Given the description of an element on the screen output the (x, y) to click on. 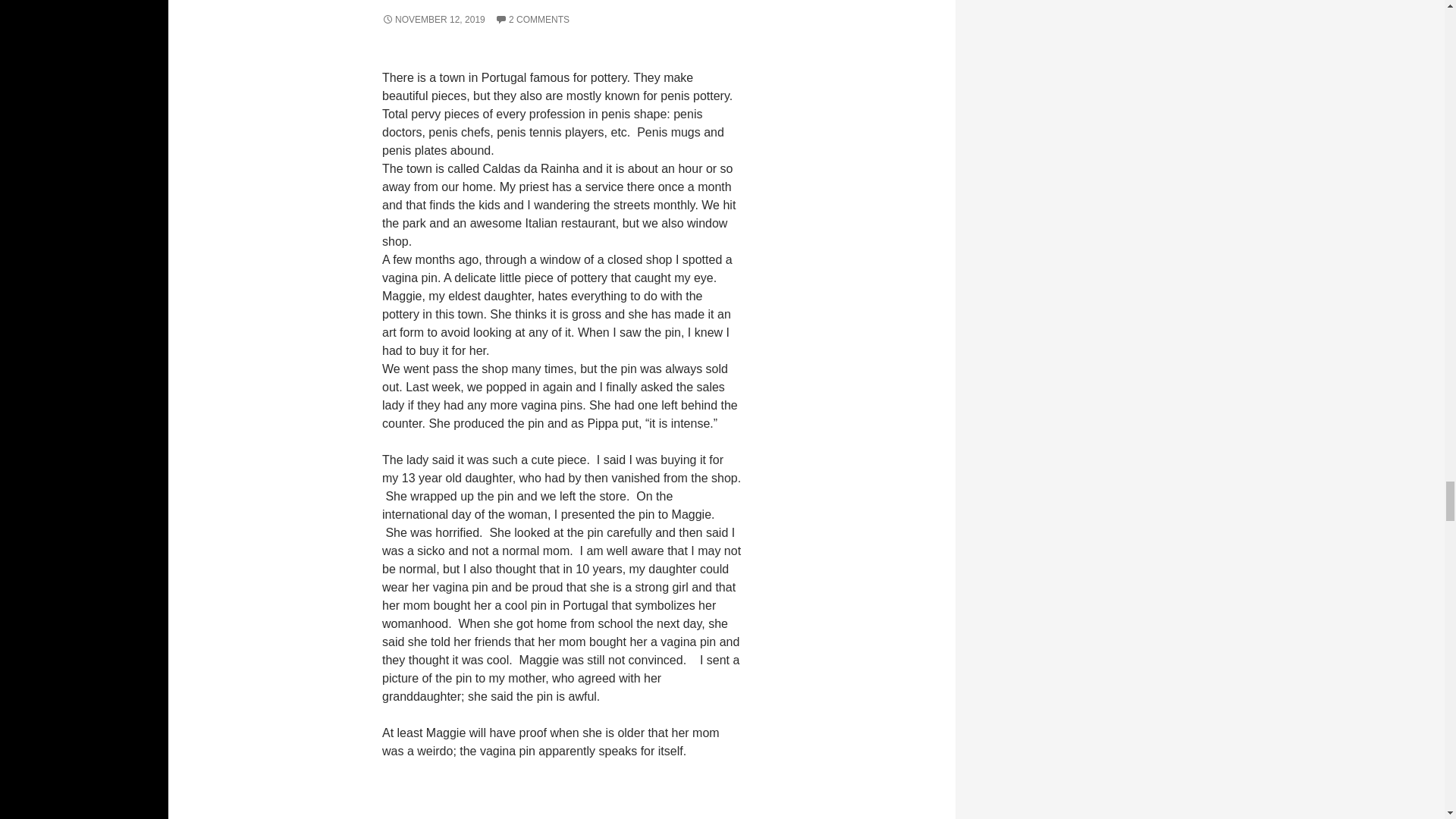
VAGINA PIN (451, 2)
